Given the description of an element on the screen output the (x, y) to click on. 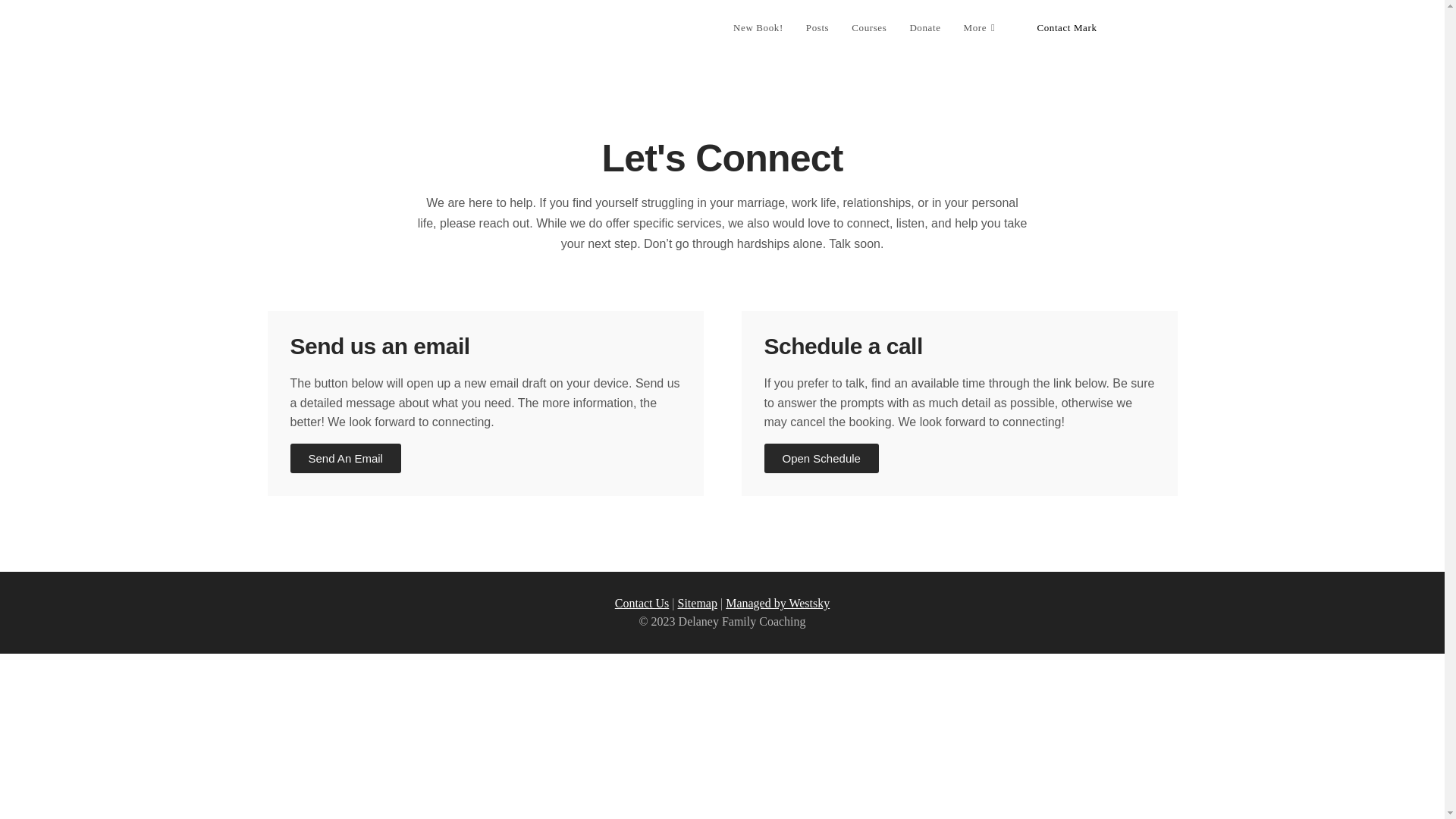
Contact Mark (1066, 28)
Posts (817, 28)
Sitemap (697, 603)
Donate (925, 28)
Courses (869, 28)
Contact Us (641, 603)
Managed by Westsky (777, 603)
New Book! (758, 28)
More (981, 28)
Send An Email (344, 458)
Open Schedule (821, 458)
